Given the description of an element on the screen output the (x, y) to click on. 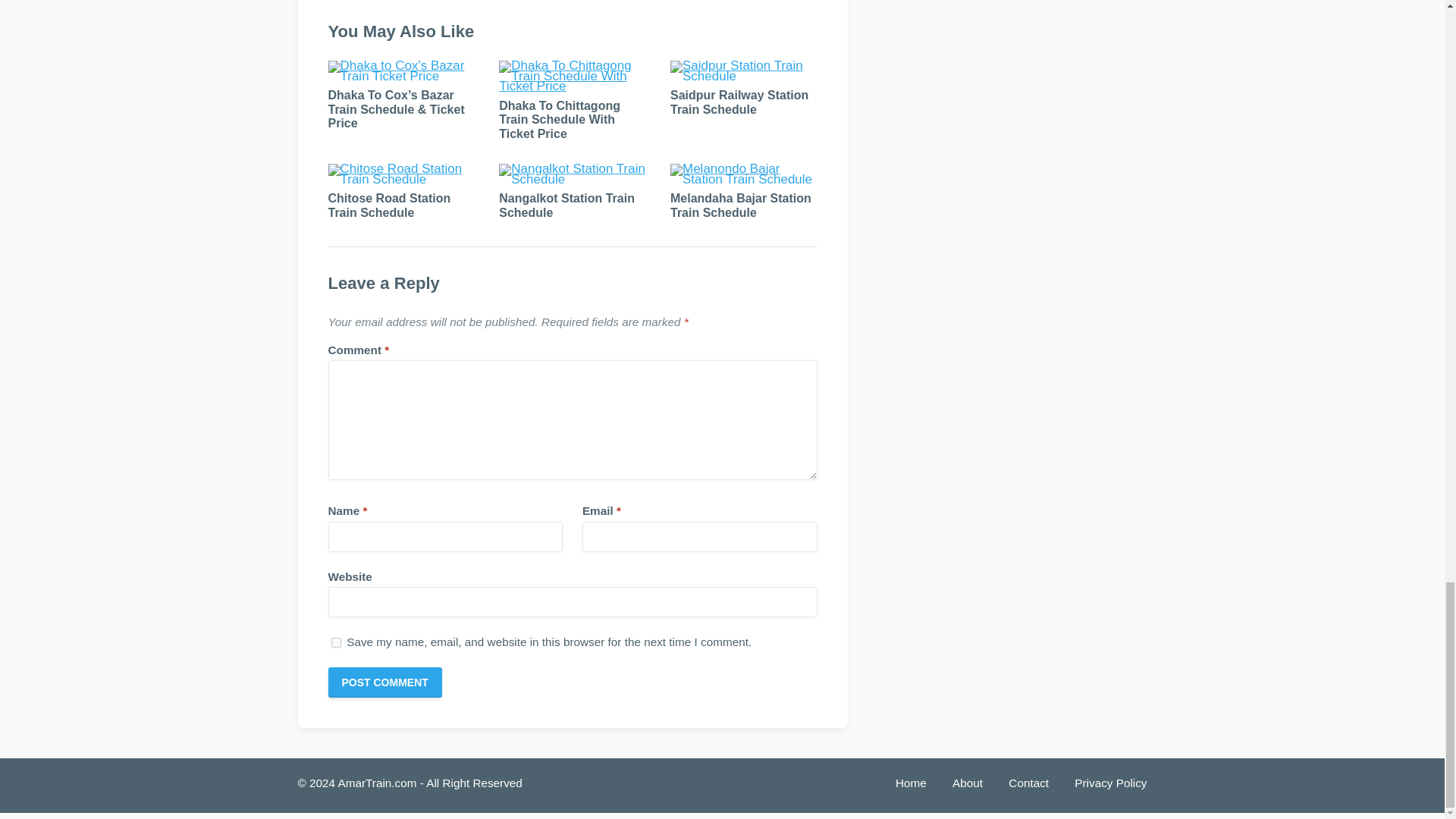
Nangalkot Station Train Schedule (566, 204)
Post Comment (384, 682)
Melandaha Bajar Station Train Schedule (739, 204)
Post Comment (384, 682)
Dhaka To Chittagong Train Schedule With Ticket Price (559, 119)
Saidpur Railway Station Train Schedule (738, 101)
yes (335, 642)
Chitose Road Station Train Schedule (388, 204)
